Given the description of an element on the screen output the (x, y) to click on. 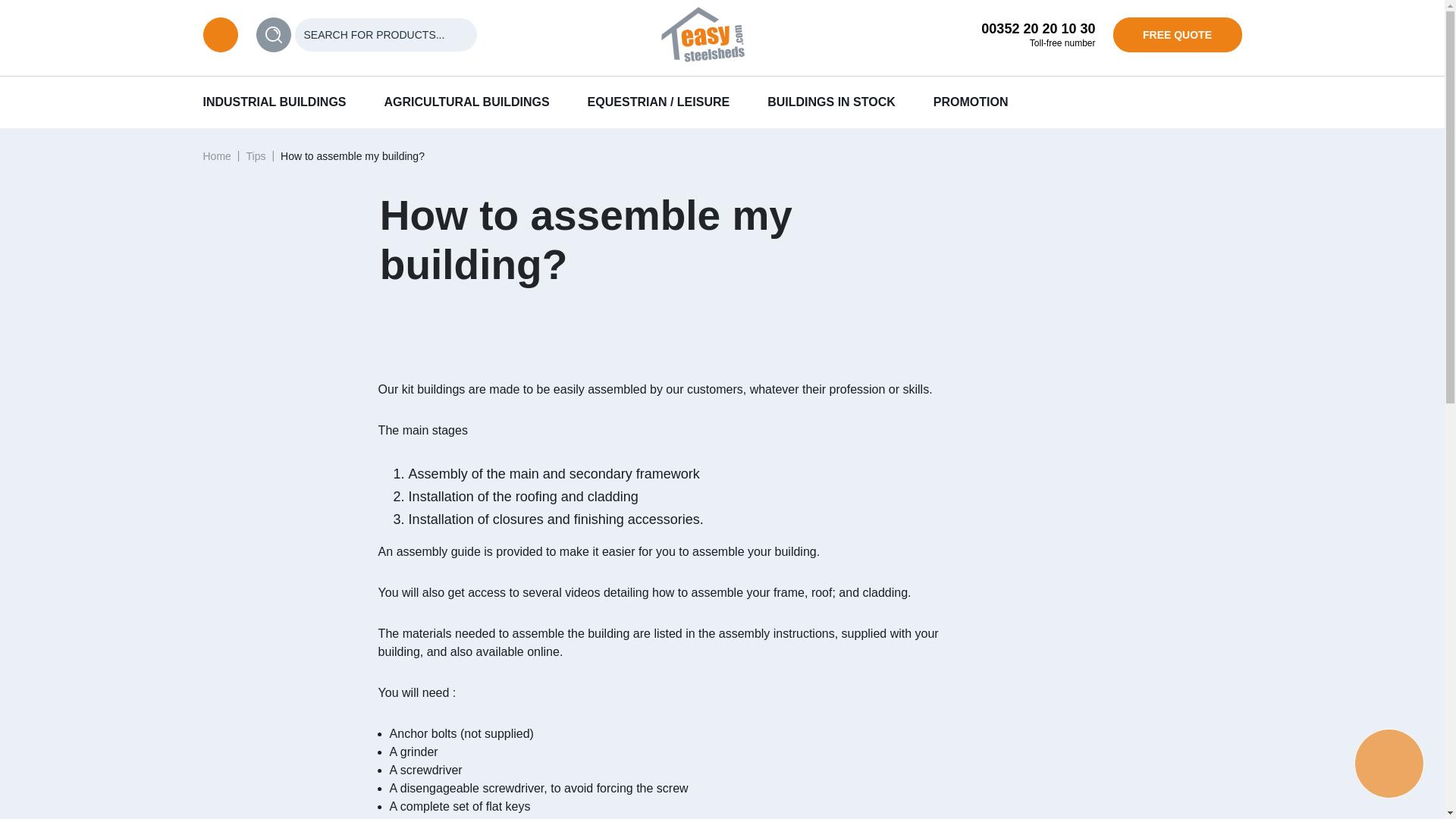
PROMOTION (971, 102)
INDUSTRIAL BUILDINGS (274, 102)
AGRICULTURAL BUILDINGS (467, 102)
BUILDINGS IN STOCK (831, 102)
Tips (255, 155)
FREE QUOTE (1177, 34)
Search (273, 34)
Home (217, 155)
